Given the description of an element on the screen output the (x, y) to click on. 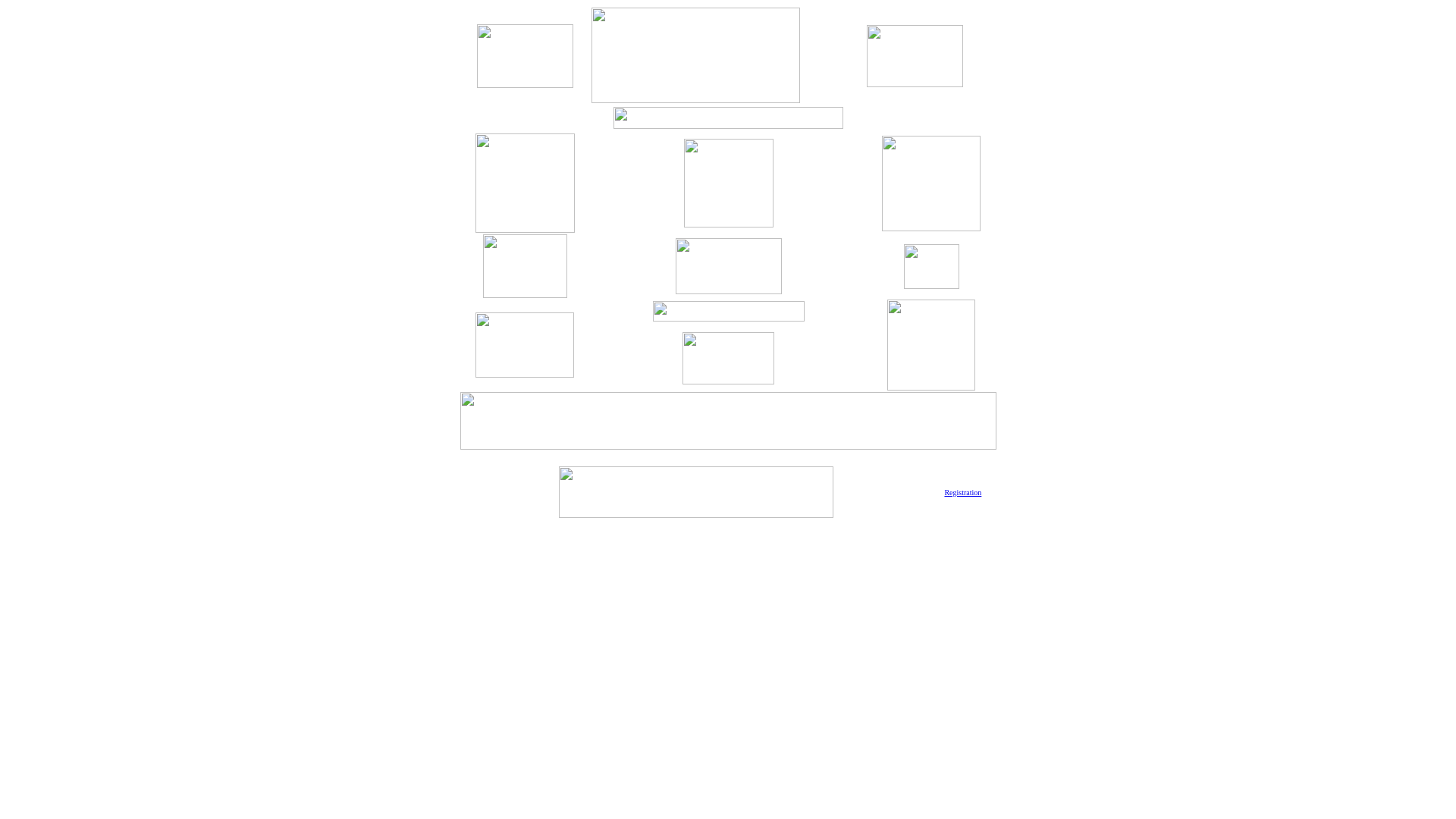
The tests you may have Element type: hover (930, 225)
Registration Element type: text (962, 492)
